Given the description of an element on the screen output the (x, y) to click on. 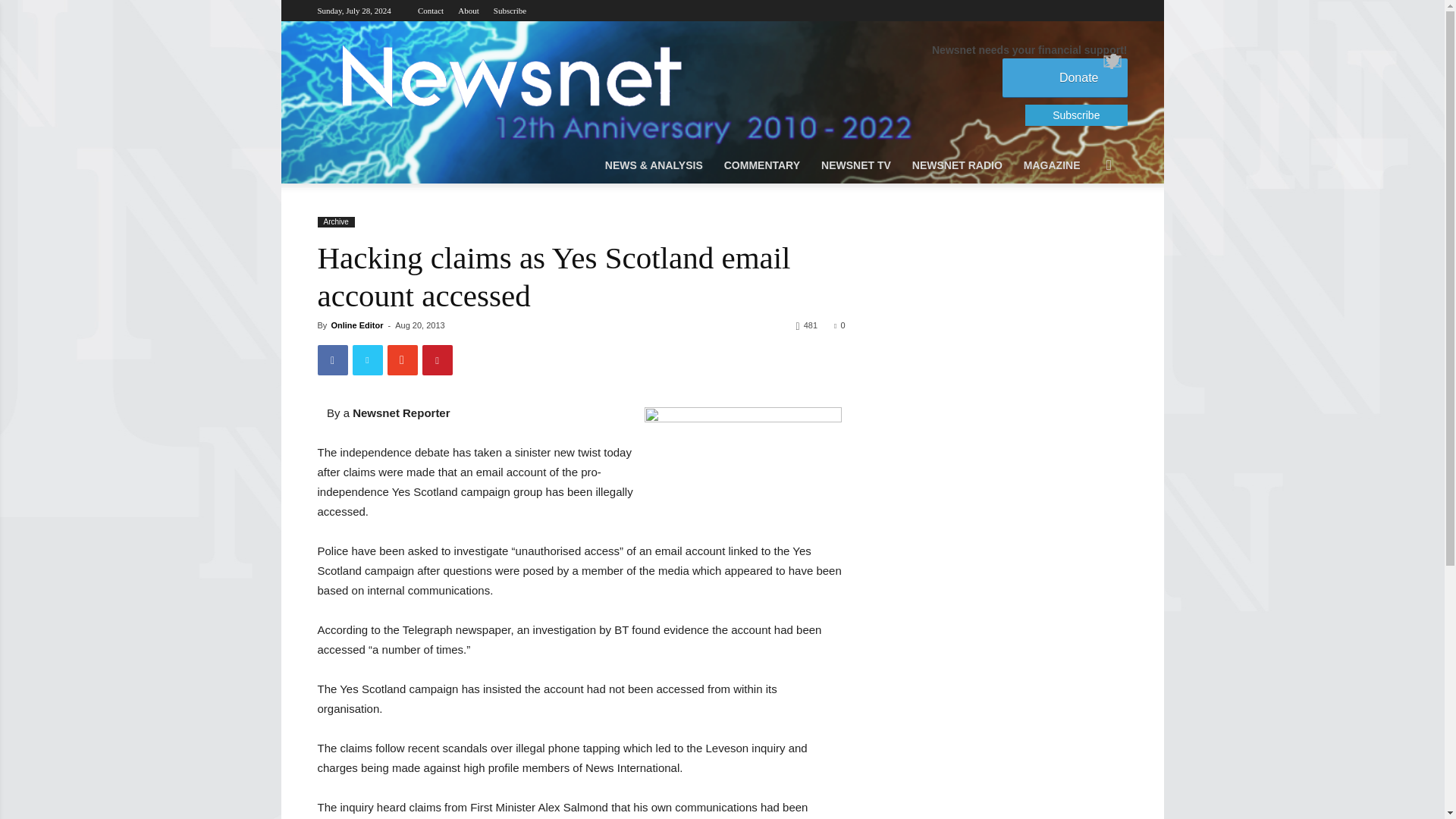
NEWSNET.scot (509, 76)
NEWSNET RADIO (957, 165)
Search (1086, 225)
COMMENTARY (761, 165)
0 (839, 325)
About (468, 10)
Archive (335, 222)
Subscribe (509, 10)
Online Editor (356, 325)
Contact (430, 10)
NEWSNET TV (855, 165)
MAGAZINE (1051, 165)
Donate (1064, 77)
